Given the description of an element on the screen output the (x, y) to click on. 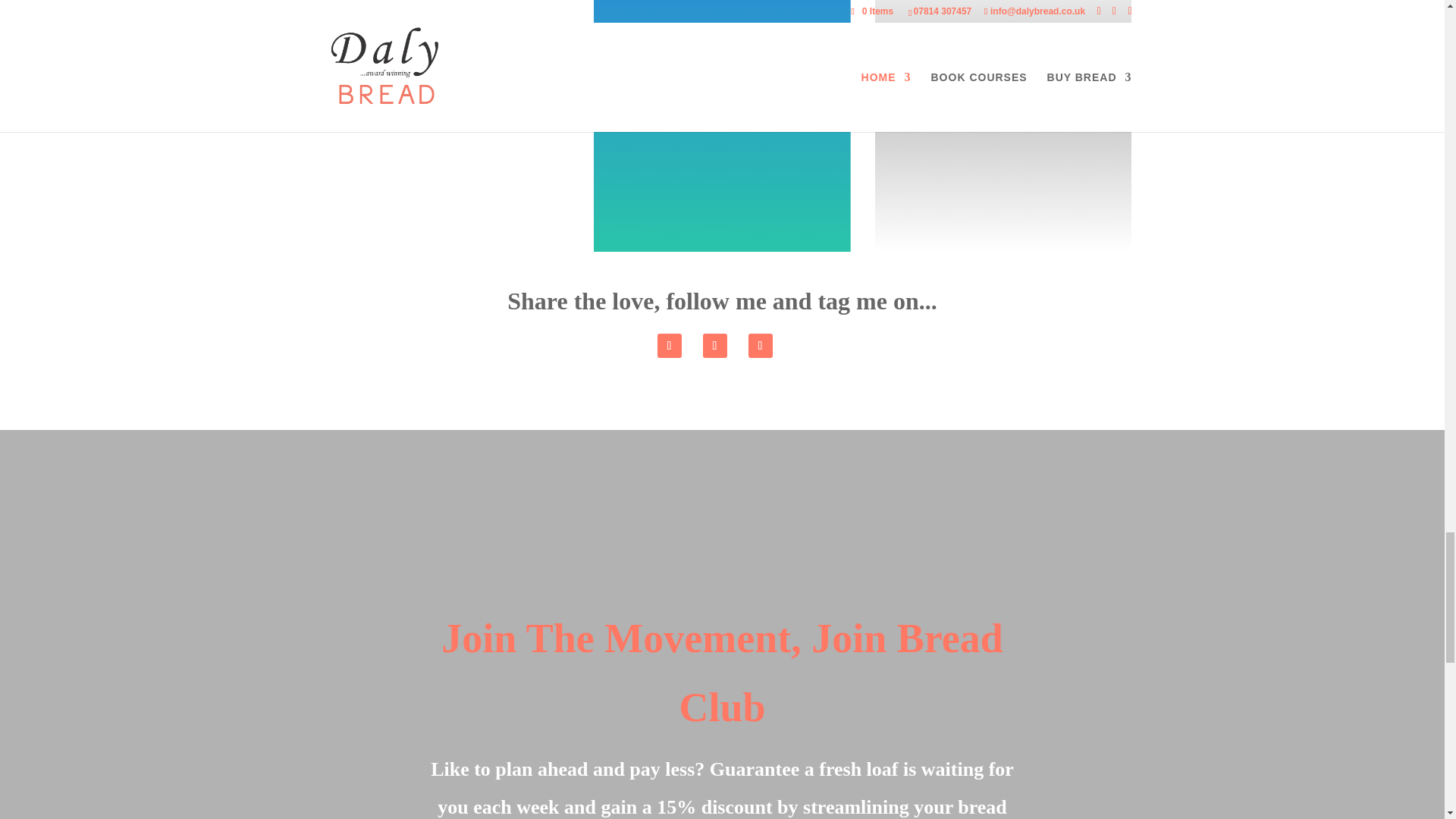
Follow on Instagram (668, 345)
Follow on Facebook (713, 345)
Follow on X (759, 345)
